Given the description of an element on the screen output the (x, y) to click on. 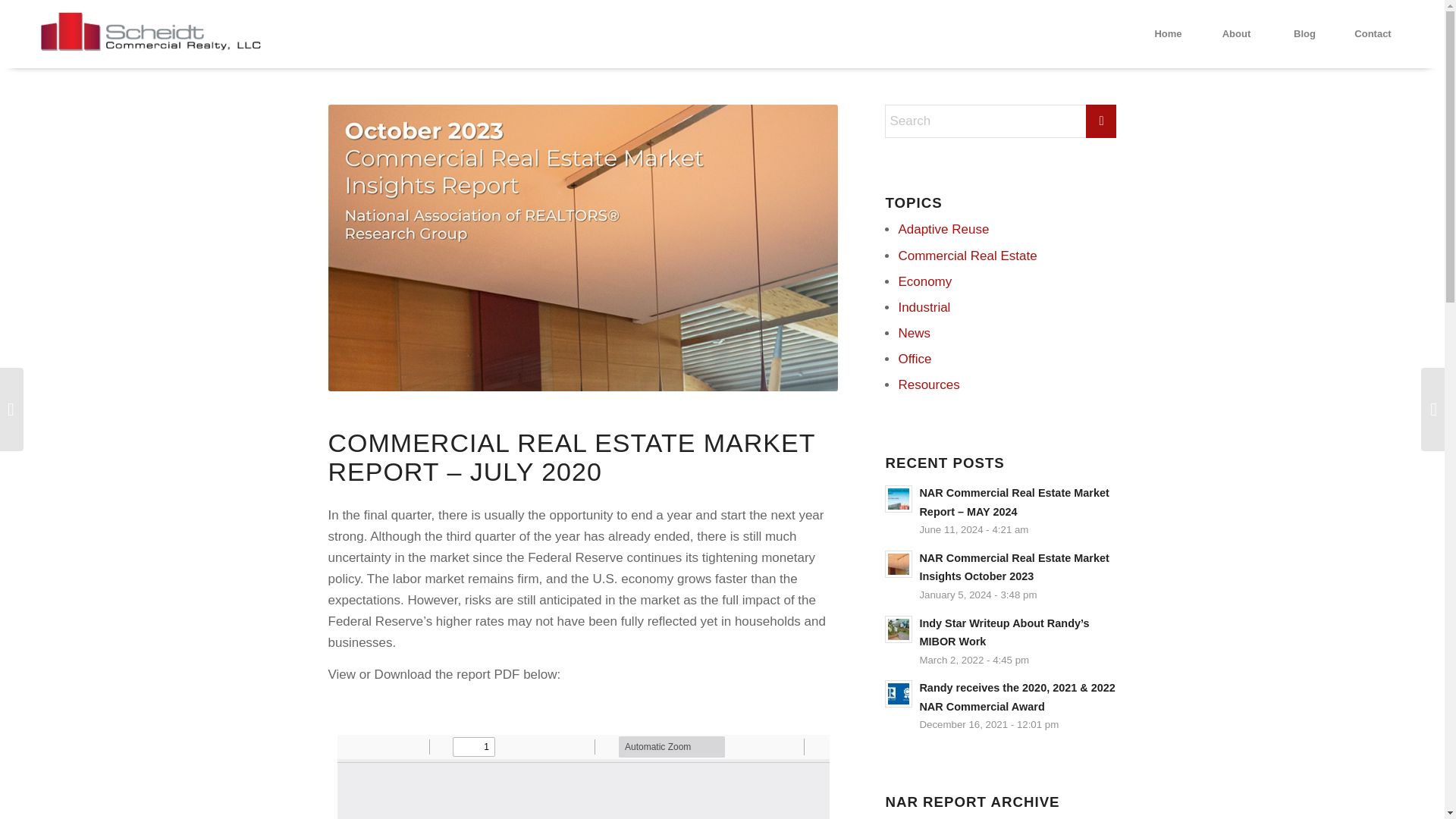
Adaptive Reuse (943, 228)
Office (914, 359)
NAR Commercial Real Estate Market Insights October 2023 (1013, 567)
Home (1168, 33)
Click to start search (1101, 121)
Industrial (924, 307)
Blog (1303, 33)
Resources (928, 384)
Economy (925, 281)
About (1235, 33)
Contact (1372, 33)
Commercial Real Estate (967, 255)
